Given the description of an element on the screen output the (x, y) to click on. 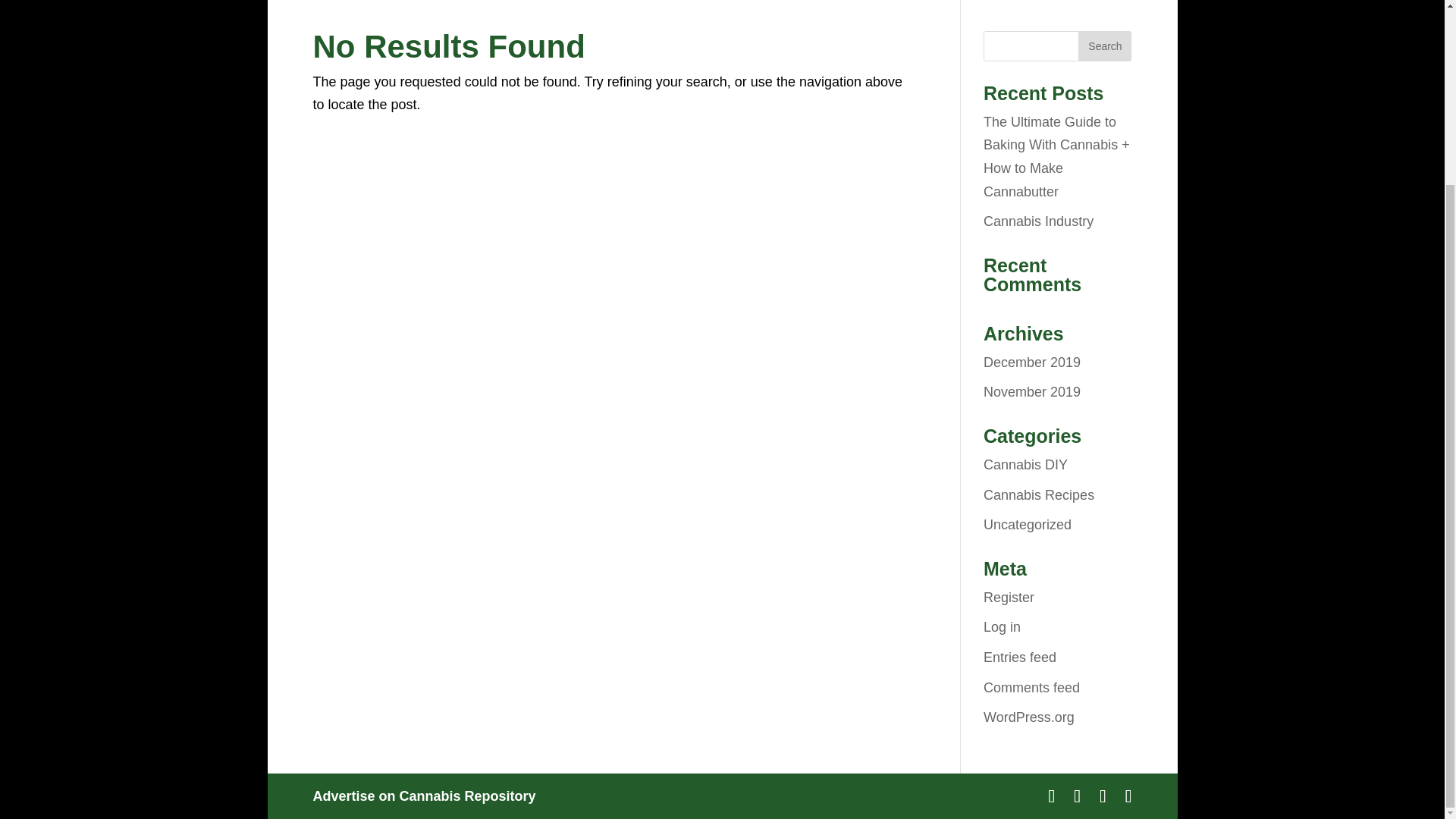
Search (1104, 46)
Search (1104, 46)
Cannabis Industry (1038, 221)
December 2019 (1032, 362)
November 2019 (1032, 391)
